Given the description of an element on the screen output the (x, y) to click on. 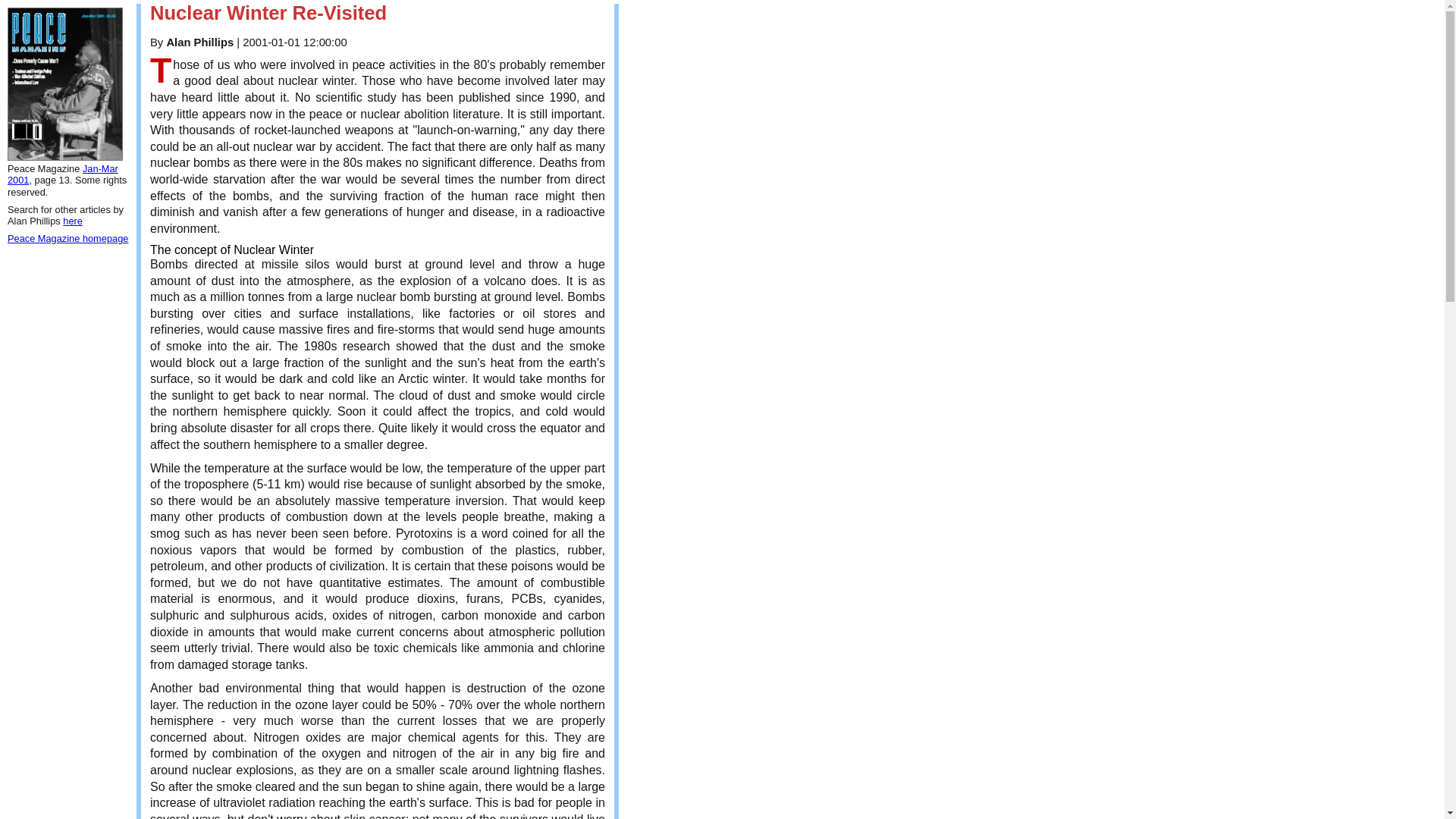
Peace Magazine homepage (67, 238)
Jan-Mar 2001 (62, 173)
here (72, 220)
